Given the description of an element on the screen output the (x, y) to click on. 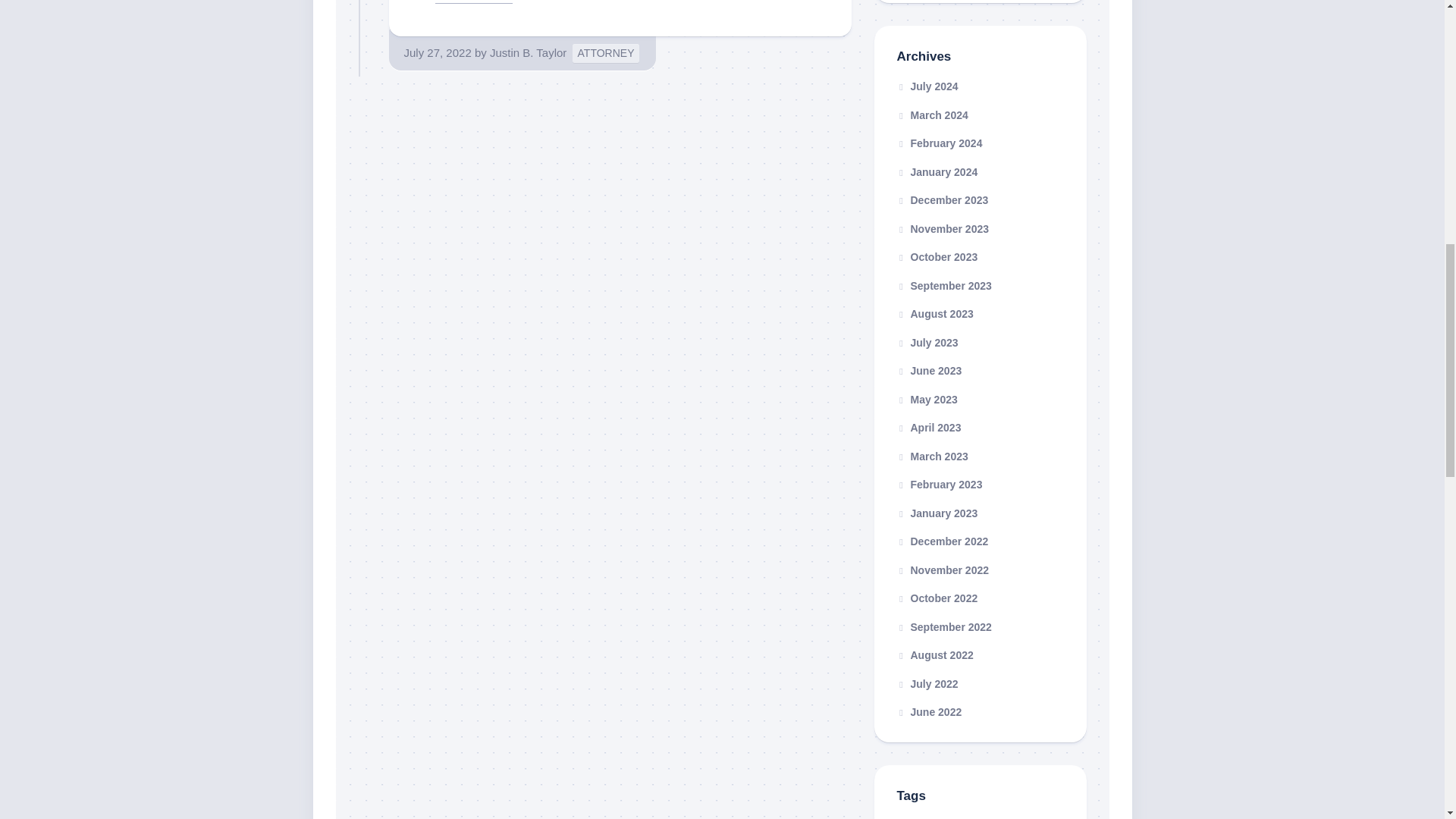
November 2023 (942, 228)
June 2023 (928, 370)
March 2024 (932, 114)
December 2022 (942, 541)
December 2023 (942, 200)
July 2023 (927, 342)
May 2023 (926, 399)
Posts by Justin B. Taylor (527, 51)
Read the rest (473, 1)
January 2023 (936, 512)
July 2024 (927, 86)
March 2023 (932, 456)
Justin B. Taylor (527, 51)
November 2022 (942, 570)
April 2023 (928, 427)
